Given the description of an element on the screen output the (x, y) to click on. 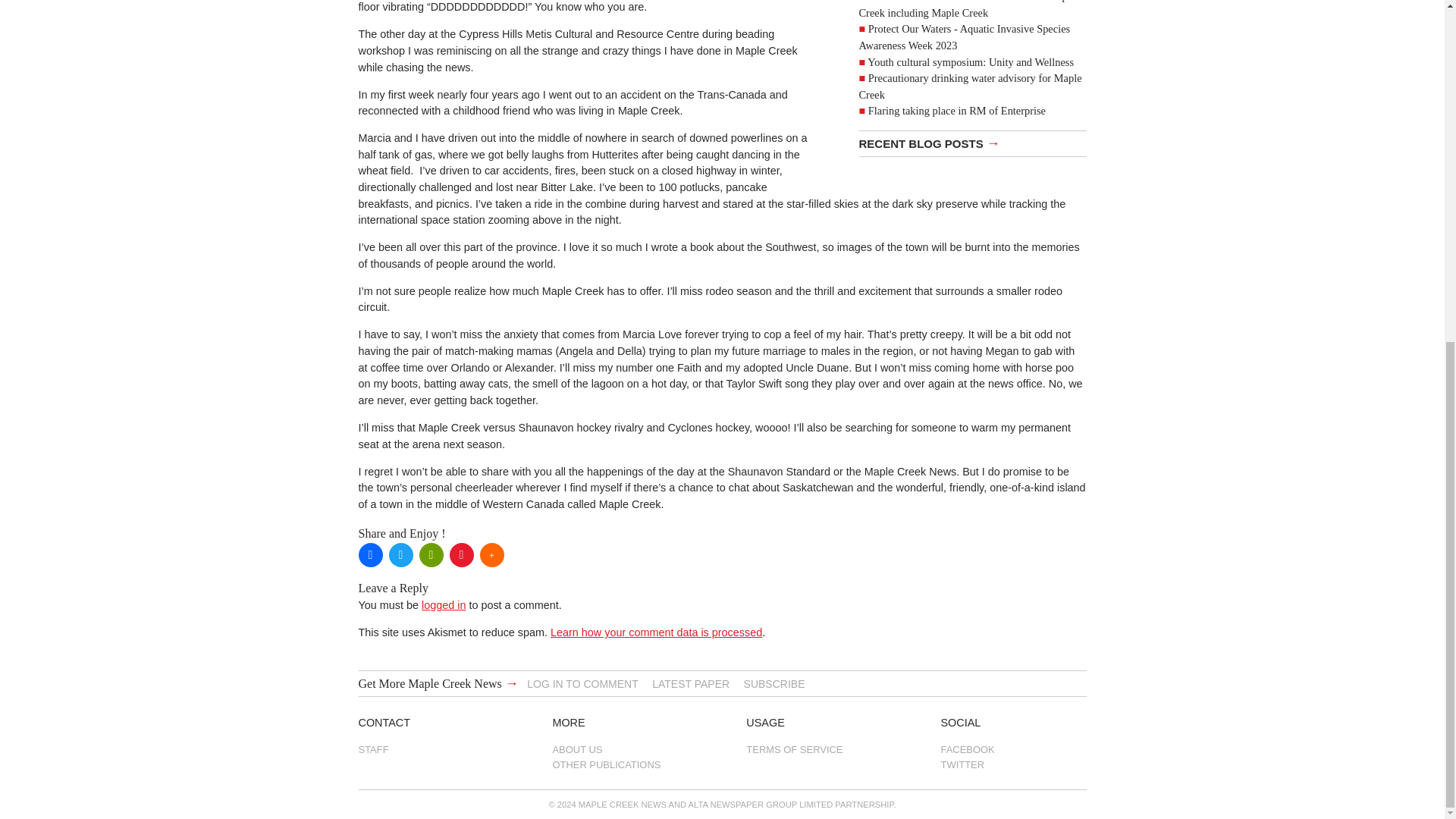
Convert to PDF (460, 554)
More share links (491, 554)
LATEST PAPER (690, 684)
Tweet this ! (400, 554)
Learn how your comment data is processed (655, 632)
SUBSCRIBE (774, 684)
LOG IN TO COMMENT (583, 684)
Youth cultural symposium: Unity and Wellness (970, 61)
